Given the description of an element on the screen output the (x, y) to click on. 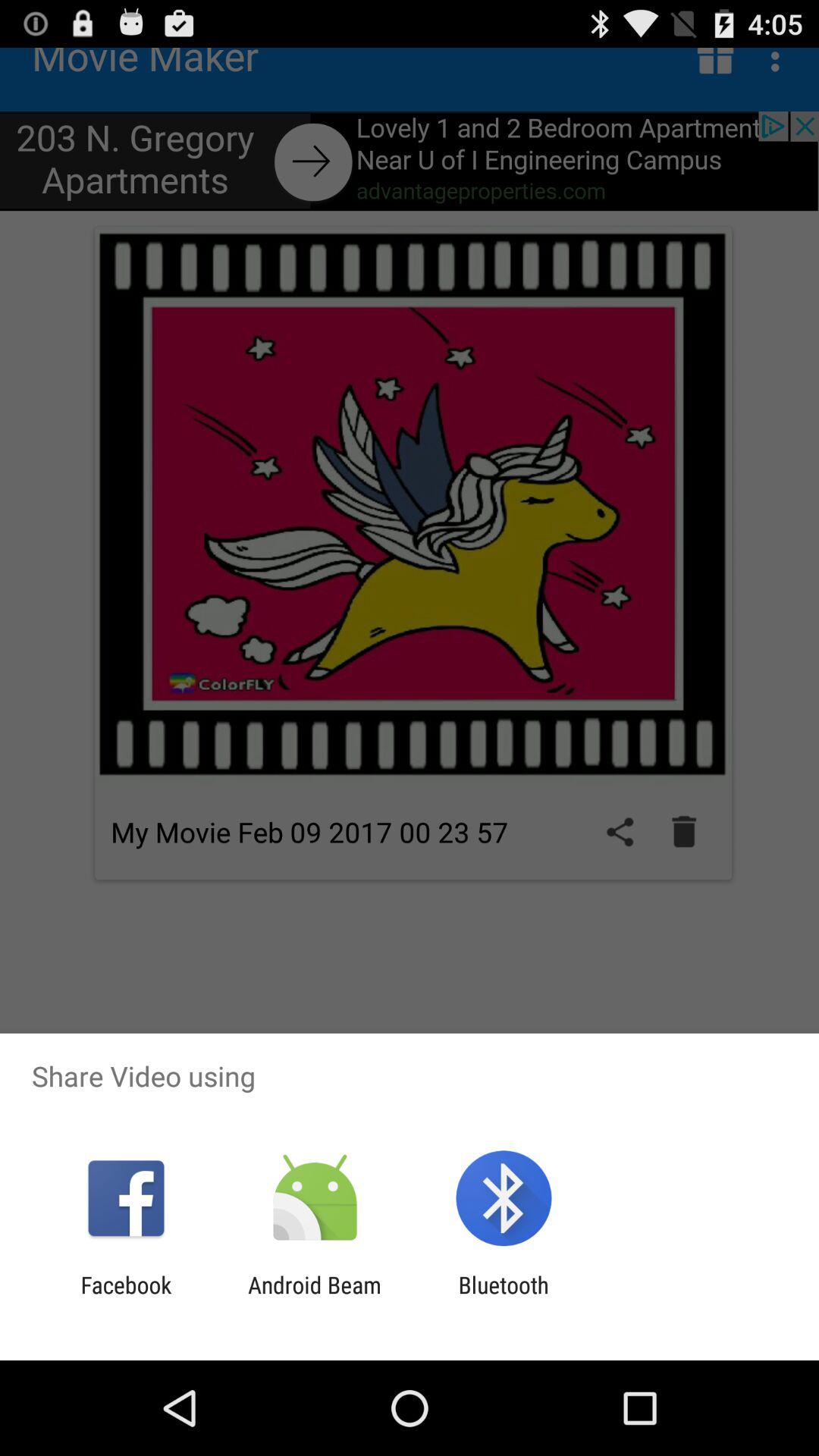
open facebook app (125, 1298)
